Given the description of an element on the screen output the (x, y) to click on. 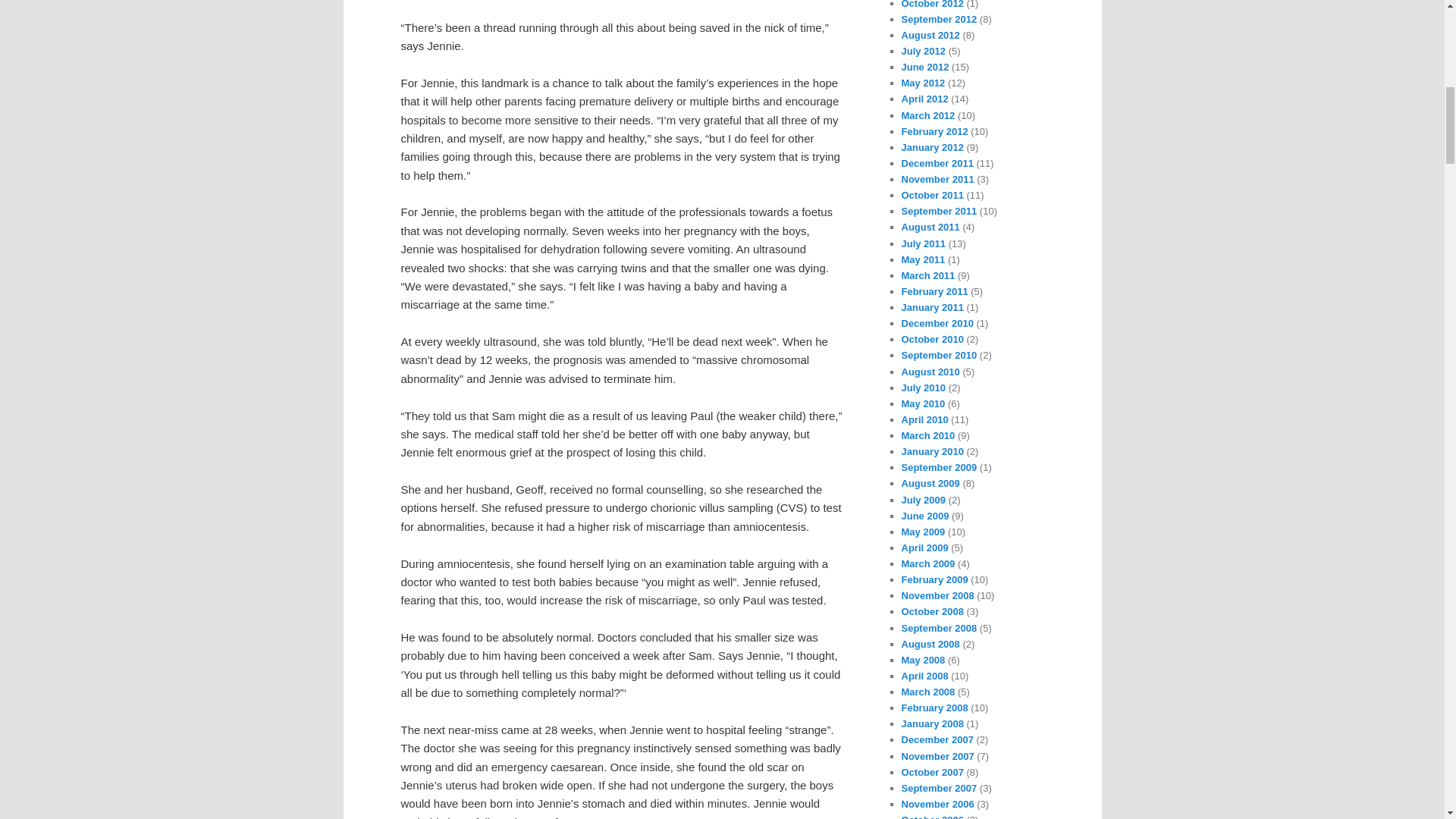
October 2012 (931, 4)
July 2012 (922, 50)
August 2012 (930, 34)
September 2012 (938, 19)
